Given the description of an element on the screen output the (x, y) to click on. 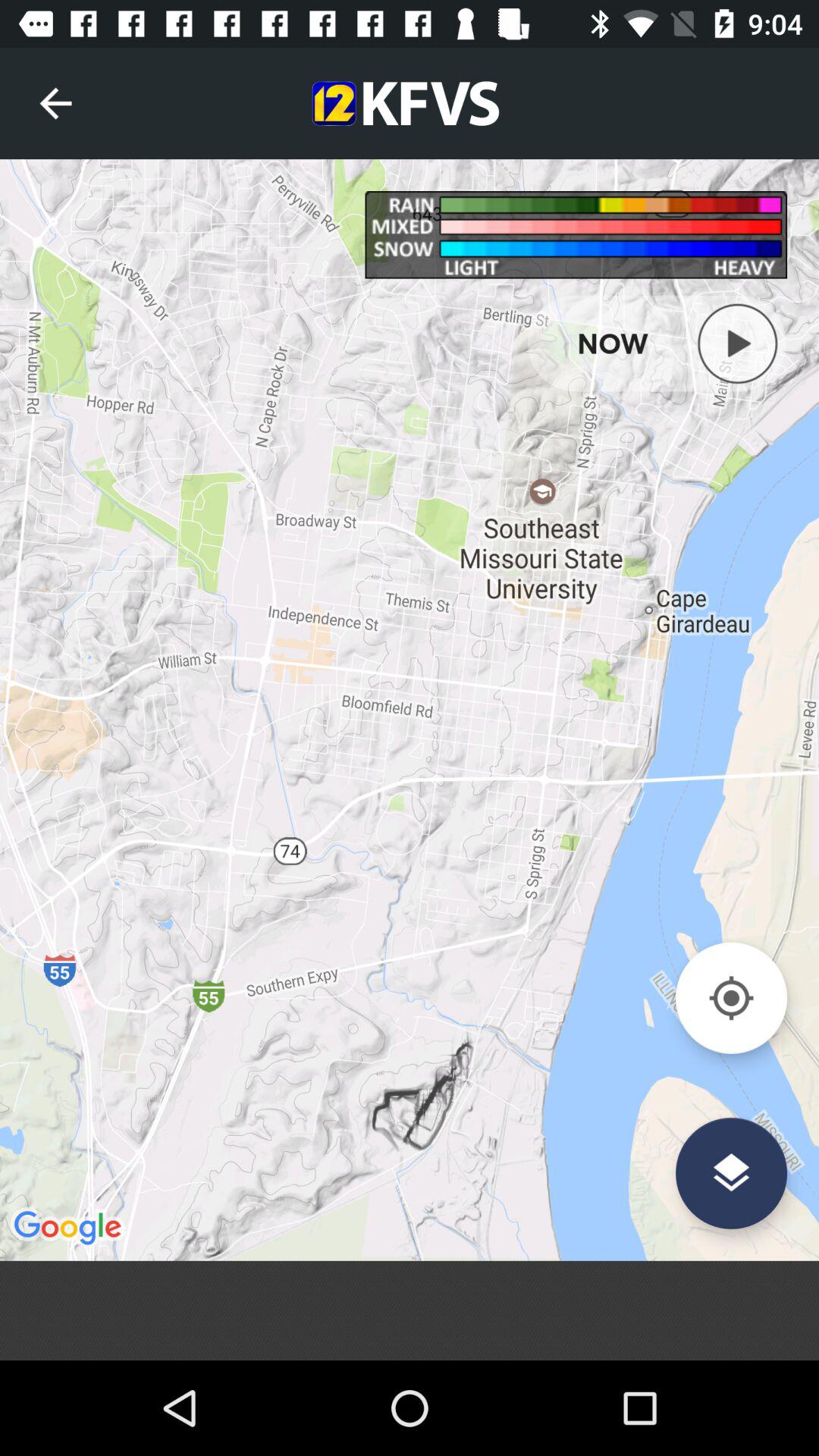
location button (731, 997)
